Given the description of an element on the screen output the (x, y) to click on. 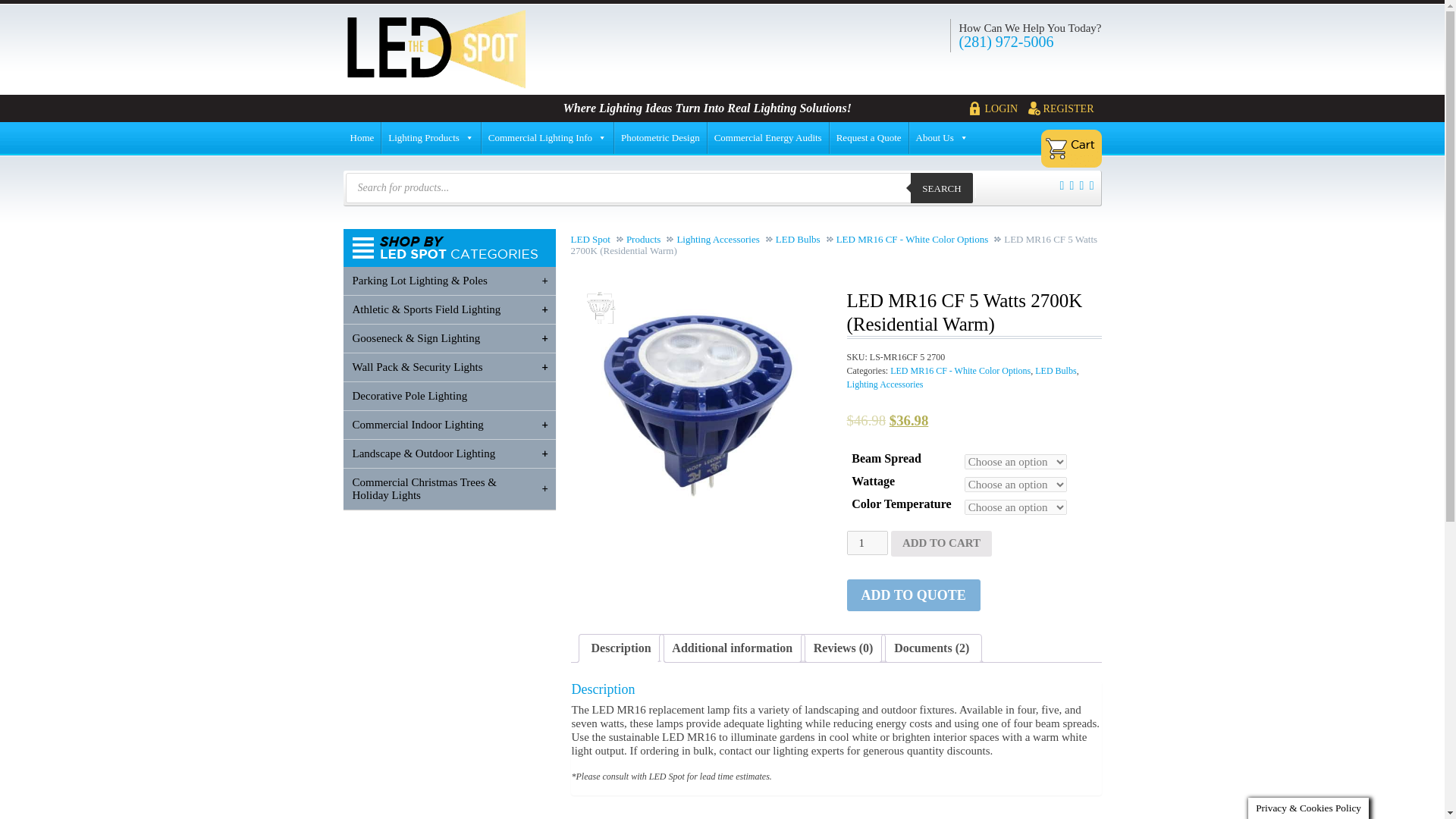
REGISTER (1064, 108)
MR16 (697, 406)
Commercial Lighting Info (546, 137)
LOGIN (997, 108)
Go to LED Spot. (596, 238)
Commercial Indoor Lighting (448, 424)
Go to the Lighting Accessories Category archives. (724, 238)
Go to Products. (650, 238)
1 (865, 542)
Lighting Products (430, 137)
Go to the LED Bulbs Category archives. (804, 238)
Decorative Pole Lighting (448, 396)
Home (361, 137)
